Given the description of an element on the screen output the (x, y) to click on. 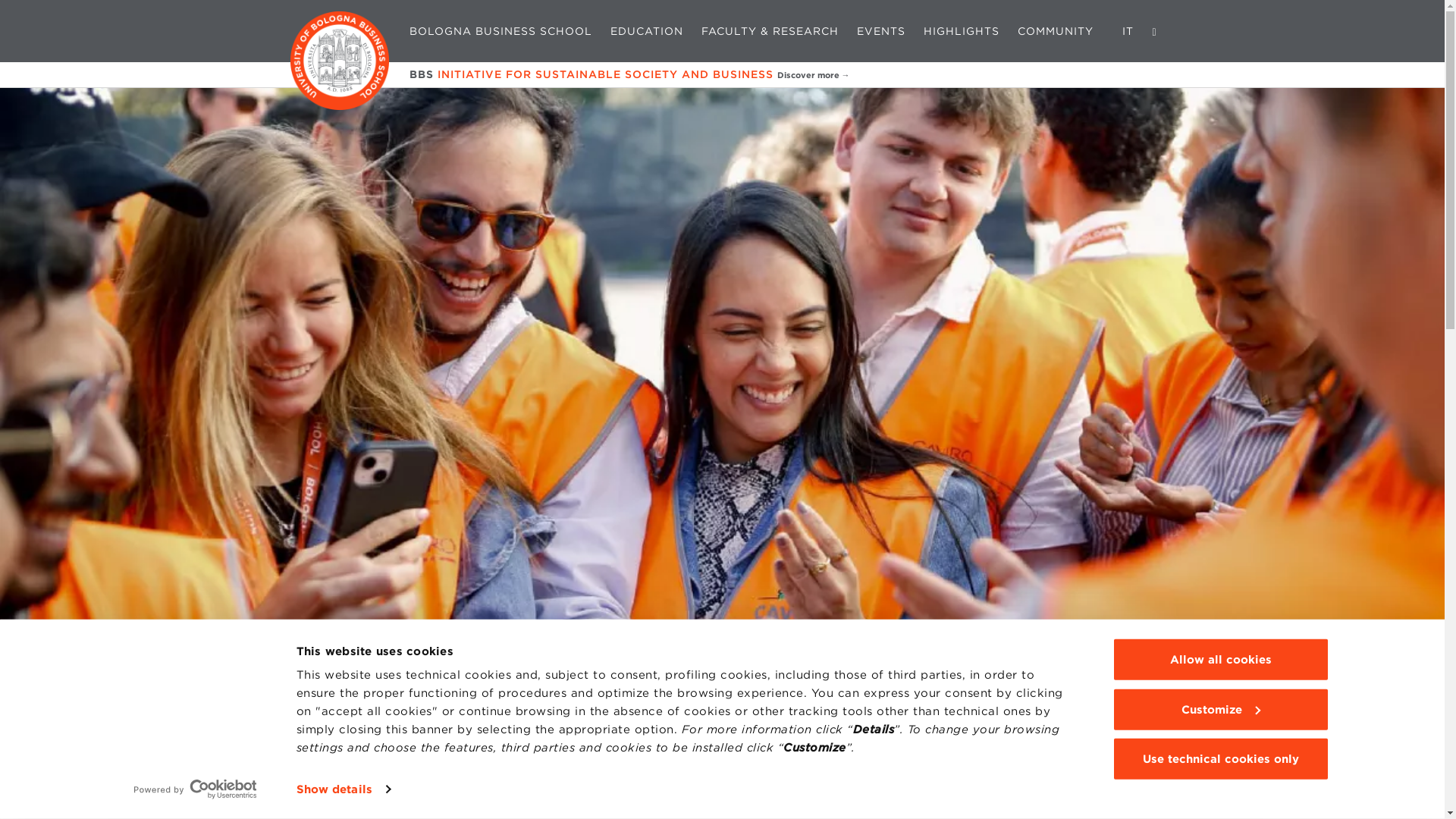
Show details (343, 789)
Cerca (1154, 30)
